Given the description of an element on the screen output the (x, y) to click on. 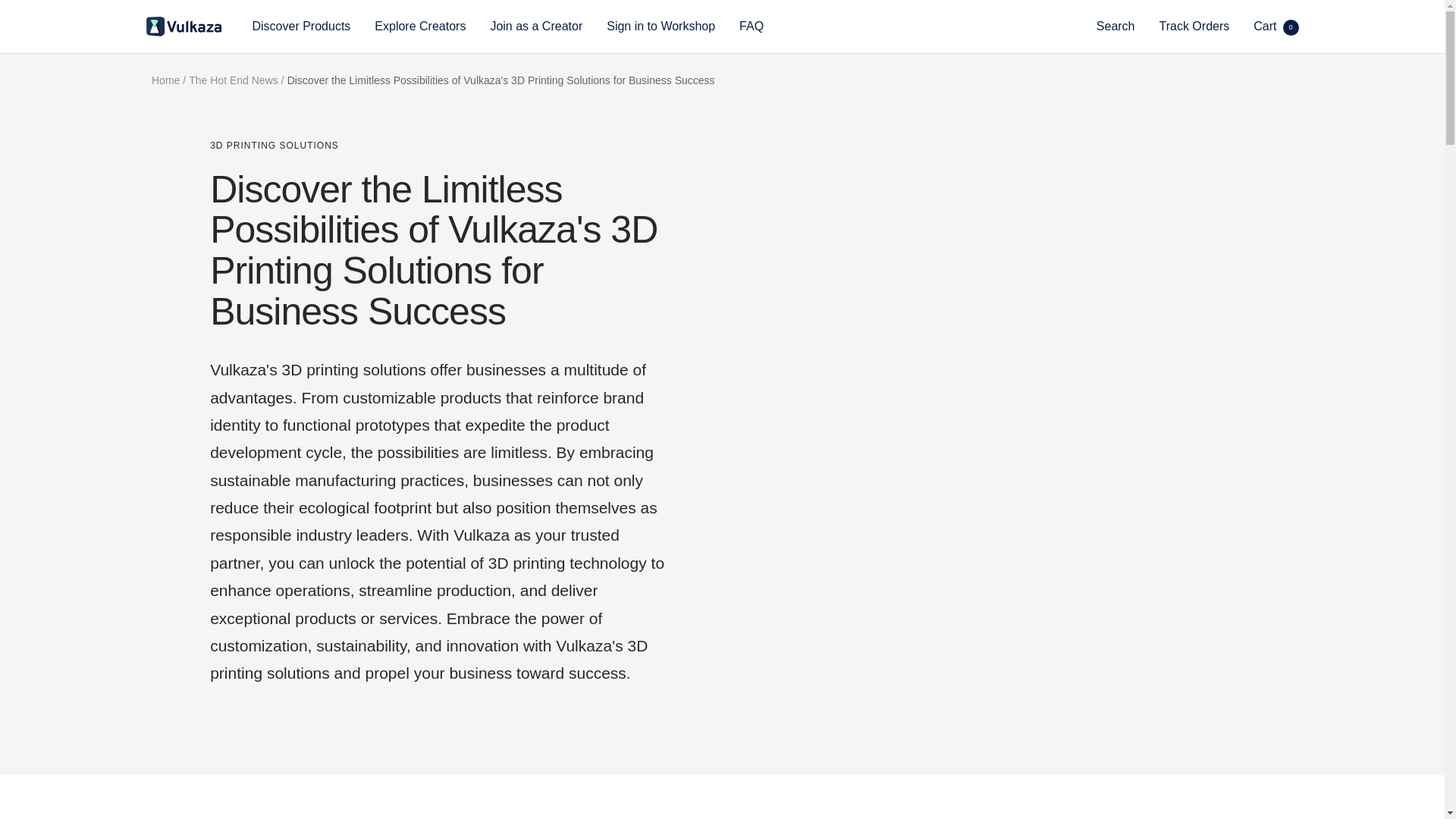
Sign in to Workshop (660, 25)
Join as a Creator (535, 25)
FAQ (750, 25)
Track Orders (1194, 25)
The Hot End News (233, 80)
Explore Creators (419, 25)
Vulkaza (183, 26)
Search (1115, 25)
Discover Products (300, 25)
3D PRINTING SOLUTIONS (438, 145)
